Given the description of an element on the screen output the (x, y) to click on. 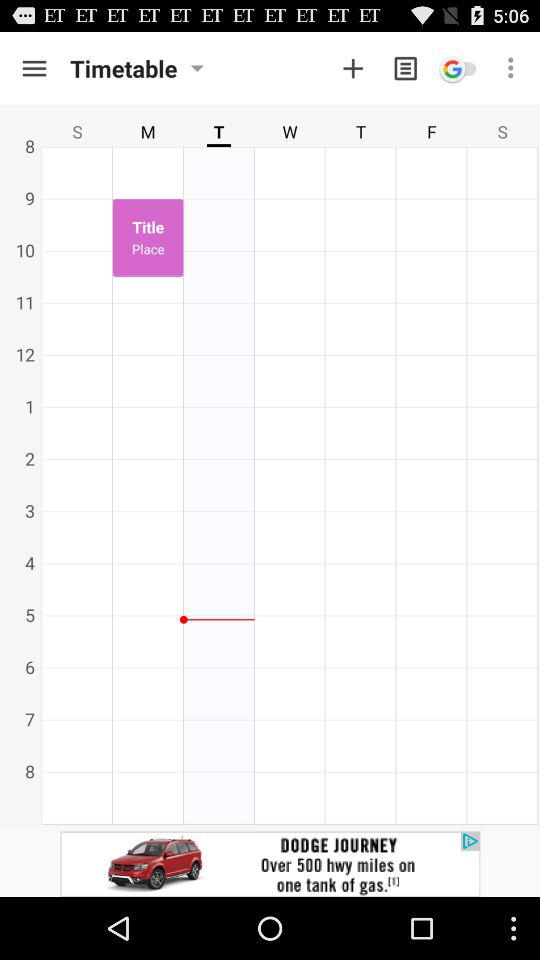
add event (353, 68)
